Given the description of an element on the screen output the (x, y) to click on. 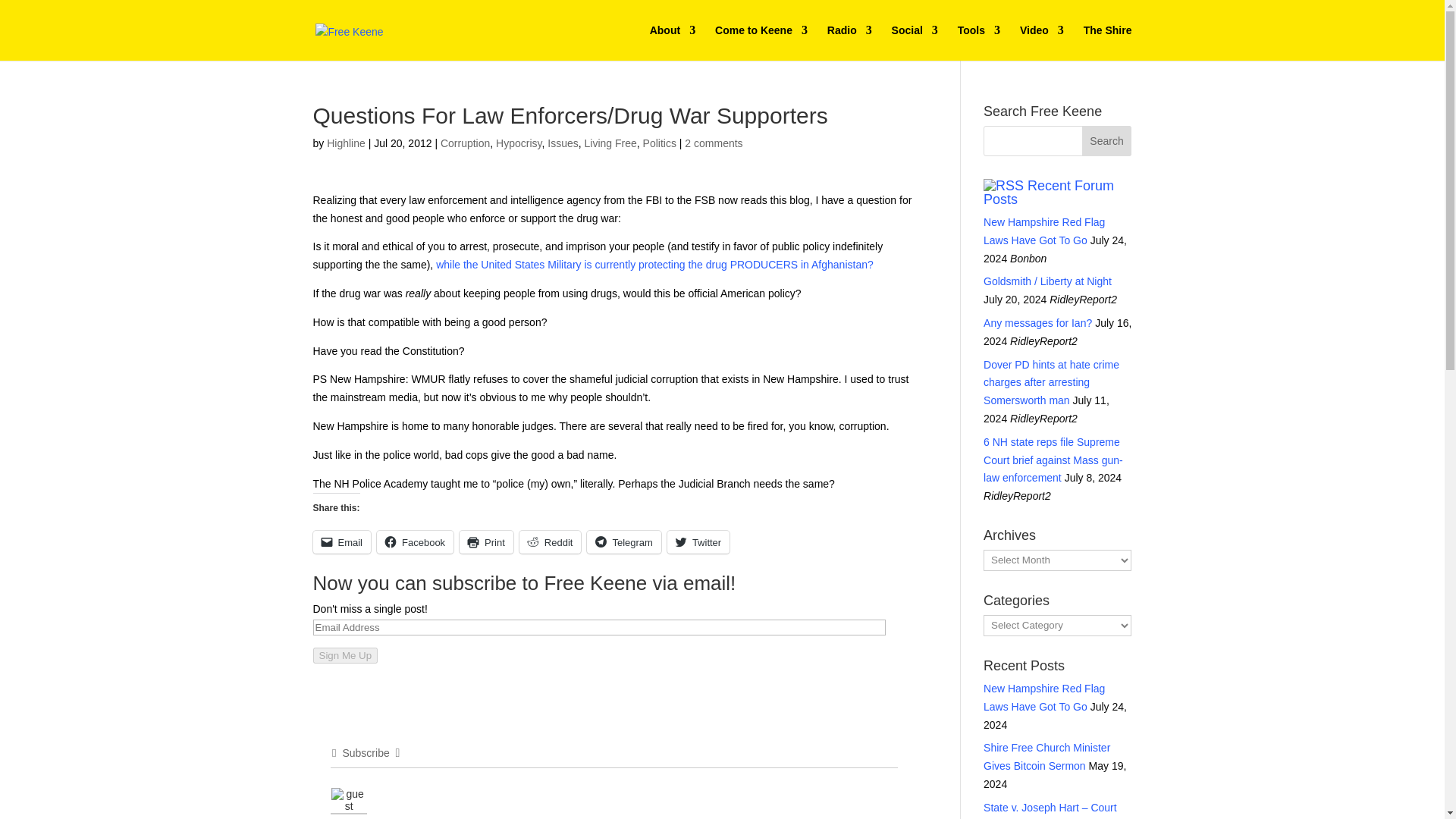
Search (1106, 141)
Tools (979, 42)
Click to share on Facebook (414, 541)
Politics (660, 143)
Social (914, 42)
Highline (345, 143)
Click to email a link to a friend (342, 541)
Click to print (486, 541)
Click to share on Reddit (549, 541)
Hypocrisy (518, 143)
Corruption (465, 143)
Posts by Highline (345, 143)
Issues (562, 143)
Click to share on Telegram (623, 541)
